Given the description of an element on the screen output the (x, y) to click on. 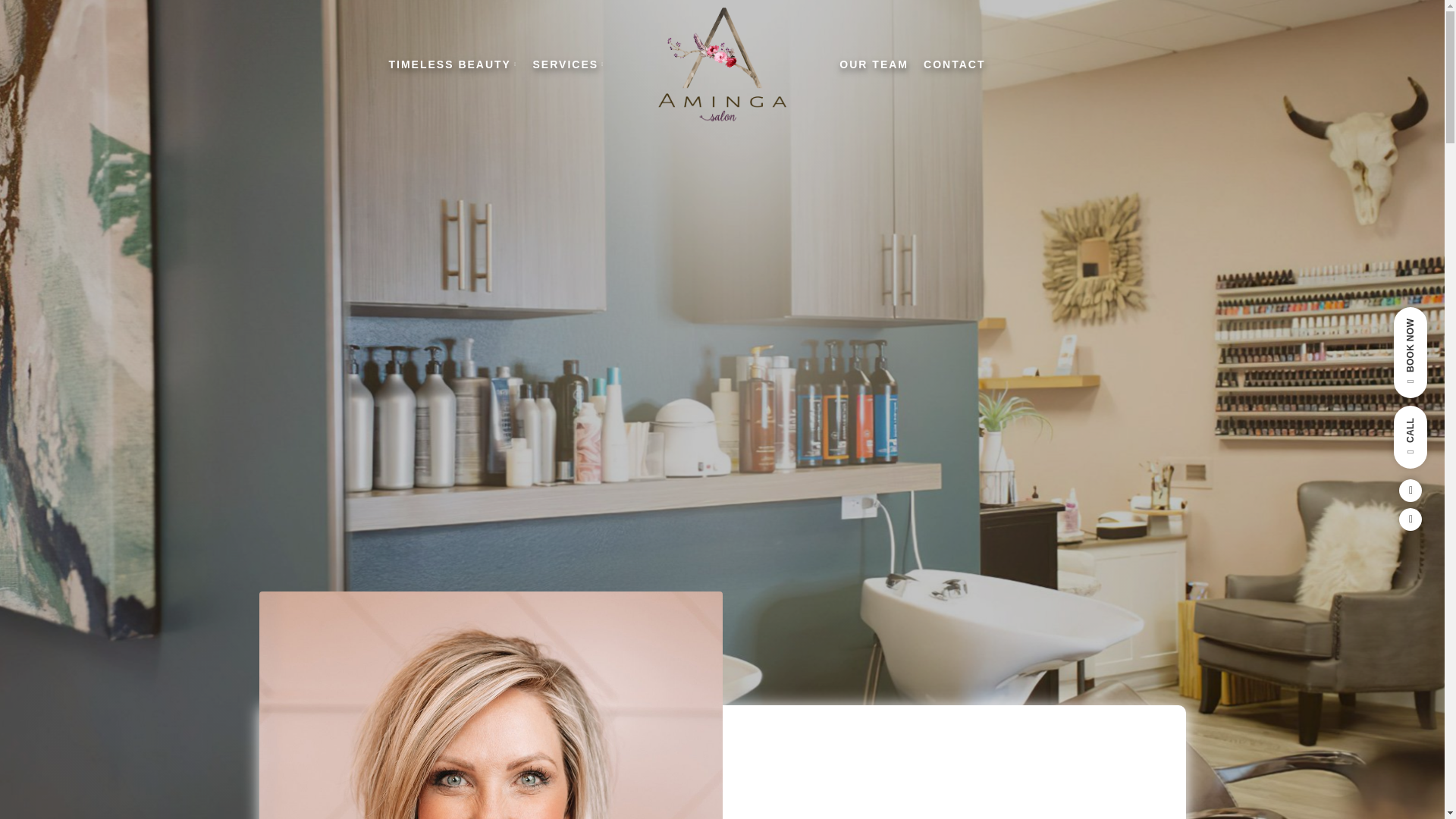
OUR TEAM (873, 64)
TIMELESS BEAUTY (452, 64)
CONTACT (953, 64)
profile-welcome (490, 705)
SERVICES (568, 64)
